Given the description of an element on the screen output the (x, y) to click on. 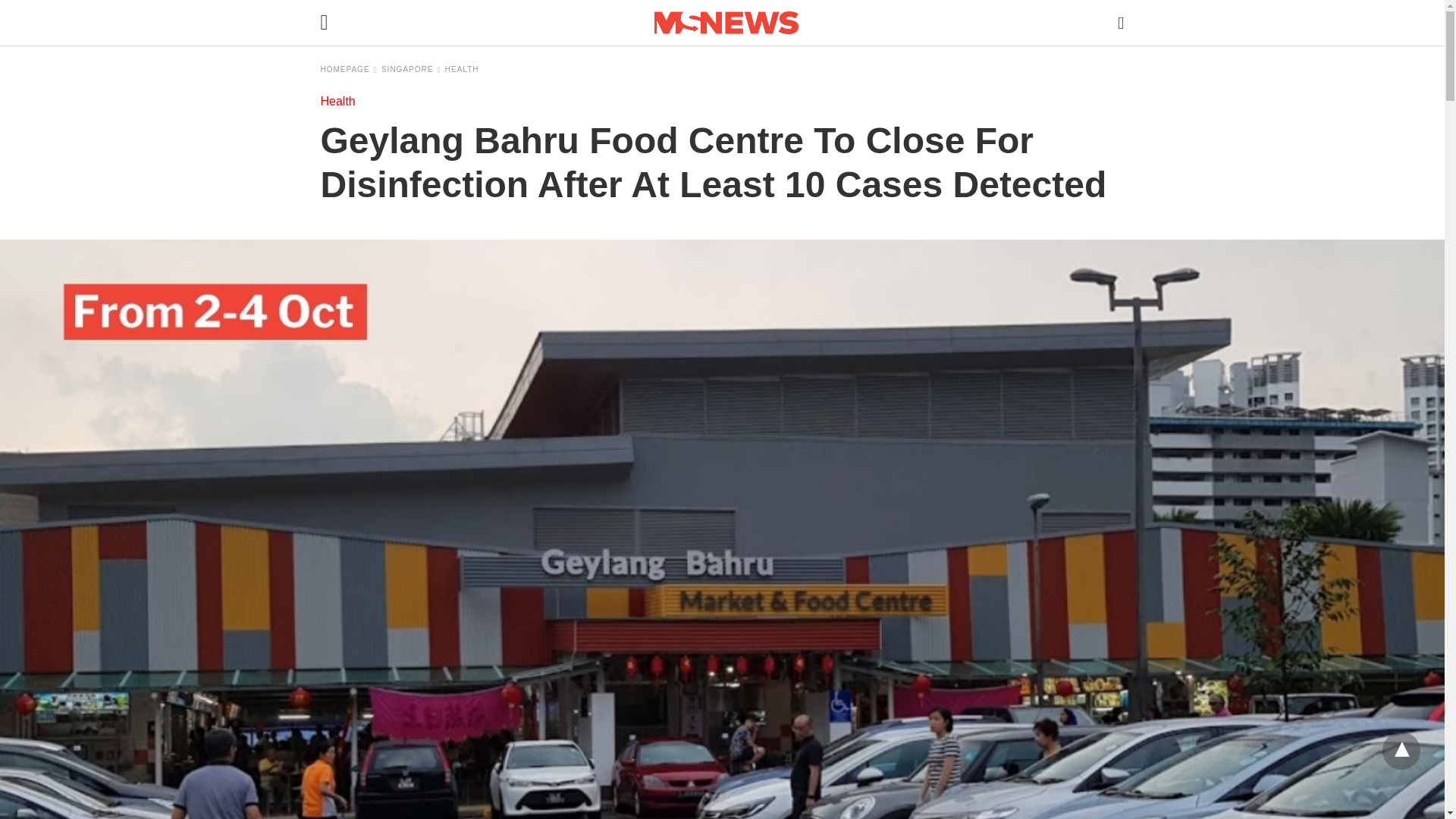
Must Share News - Independent News For Singaporeans (725, 23)
Homepage (348, 69)
back to top (1401, 750)
Singapore (411, 69)
Health (337, 101)
Health (462, 69)
HOMEPAGE (348, 69)
